Given the description of an element on the screen output the (x, y) to click on. 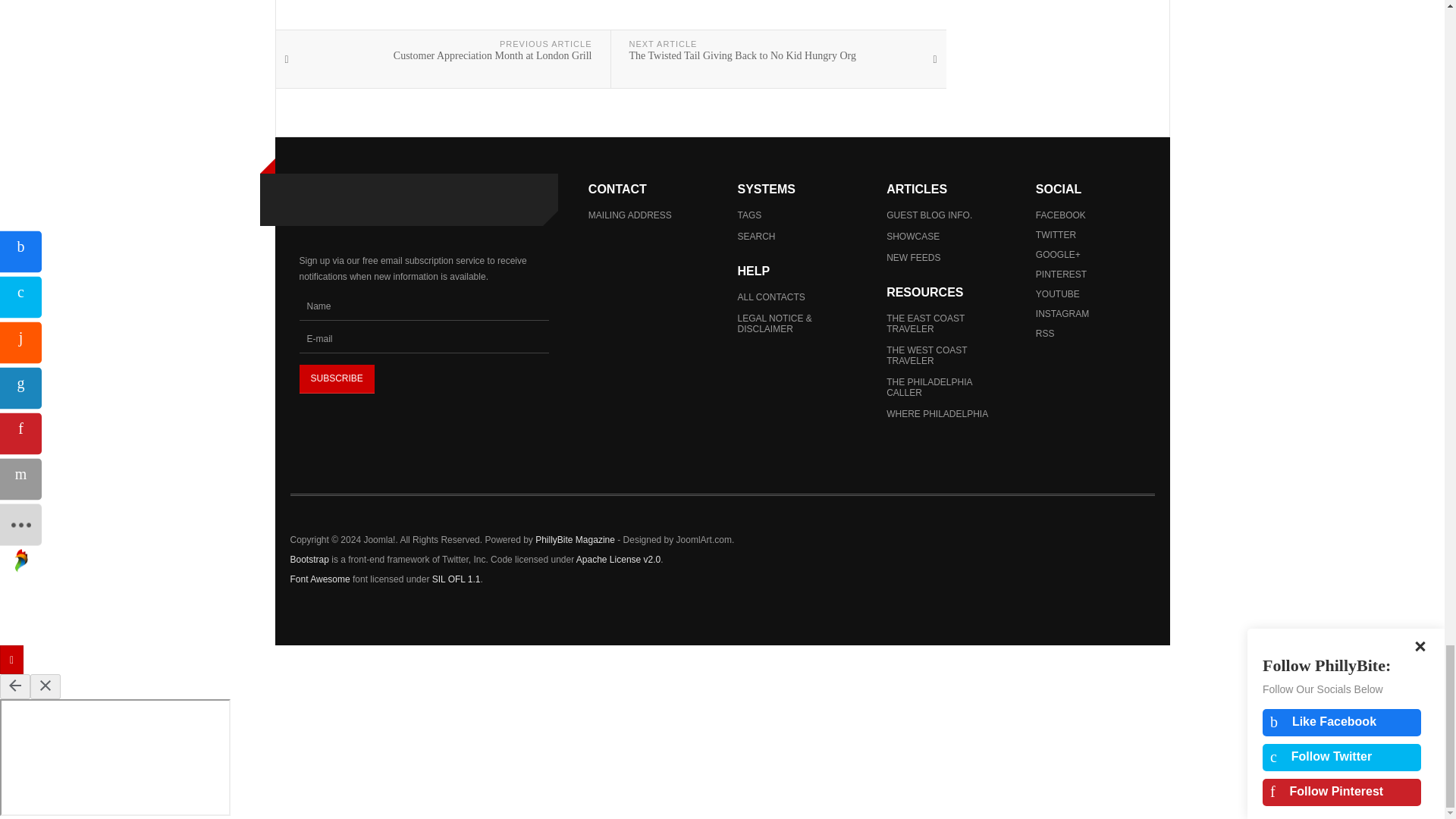
Name (423, 306)
Subscribe (336, 378)
E-mail (423, 338)
